Given the description of an element on the screen output the (x, y) to click on. 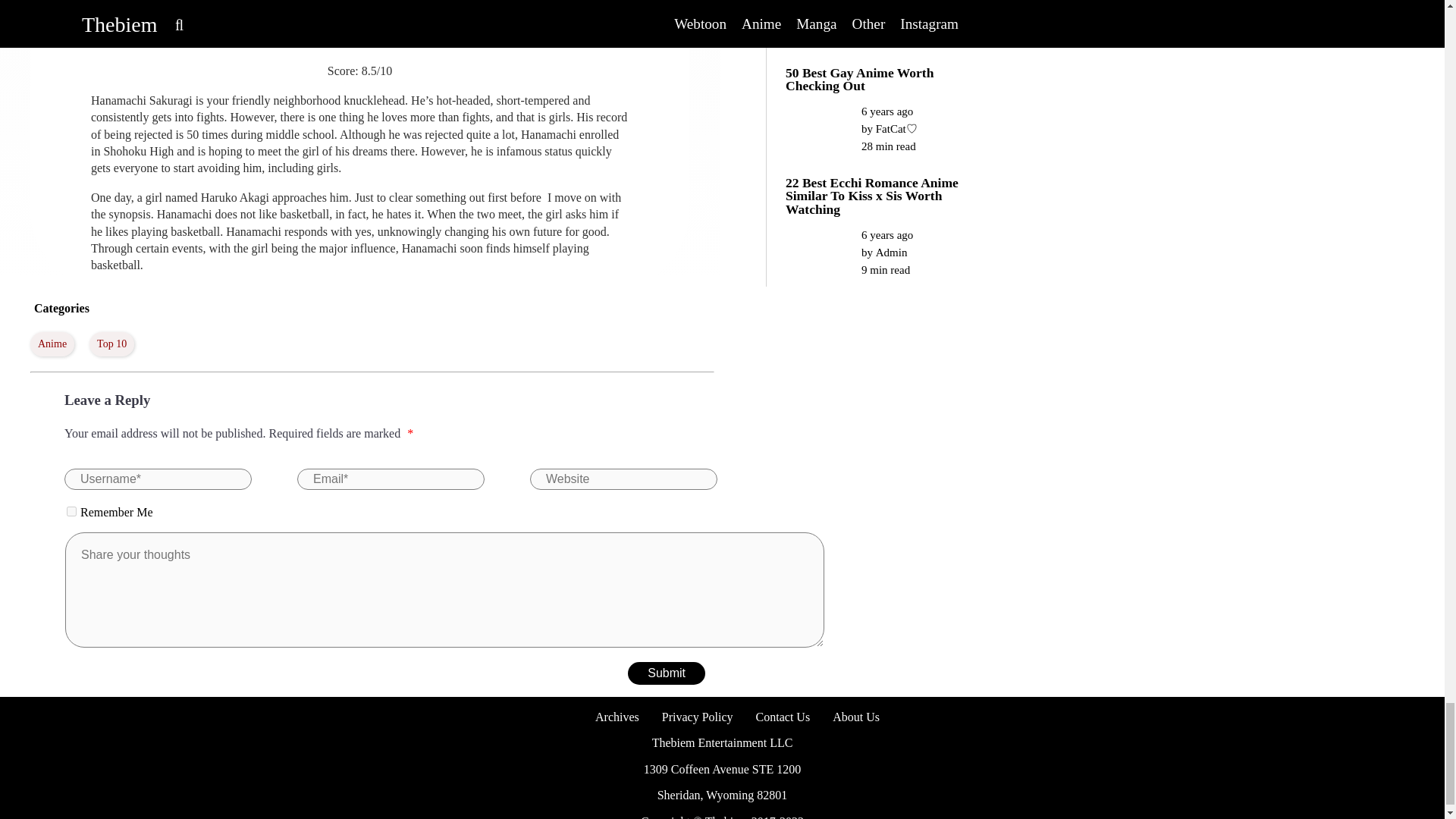
yes (71, 511)
Submit (665, 672)
